Given the description of an element on the screen output the (x, y) to click on. 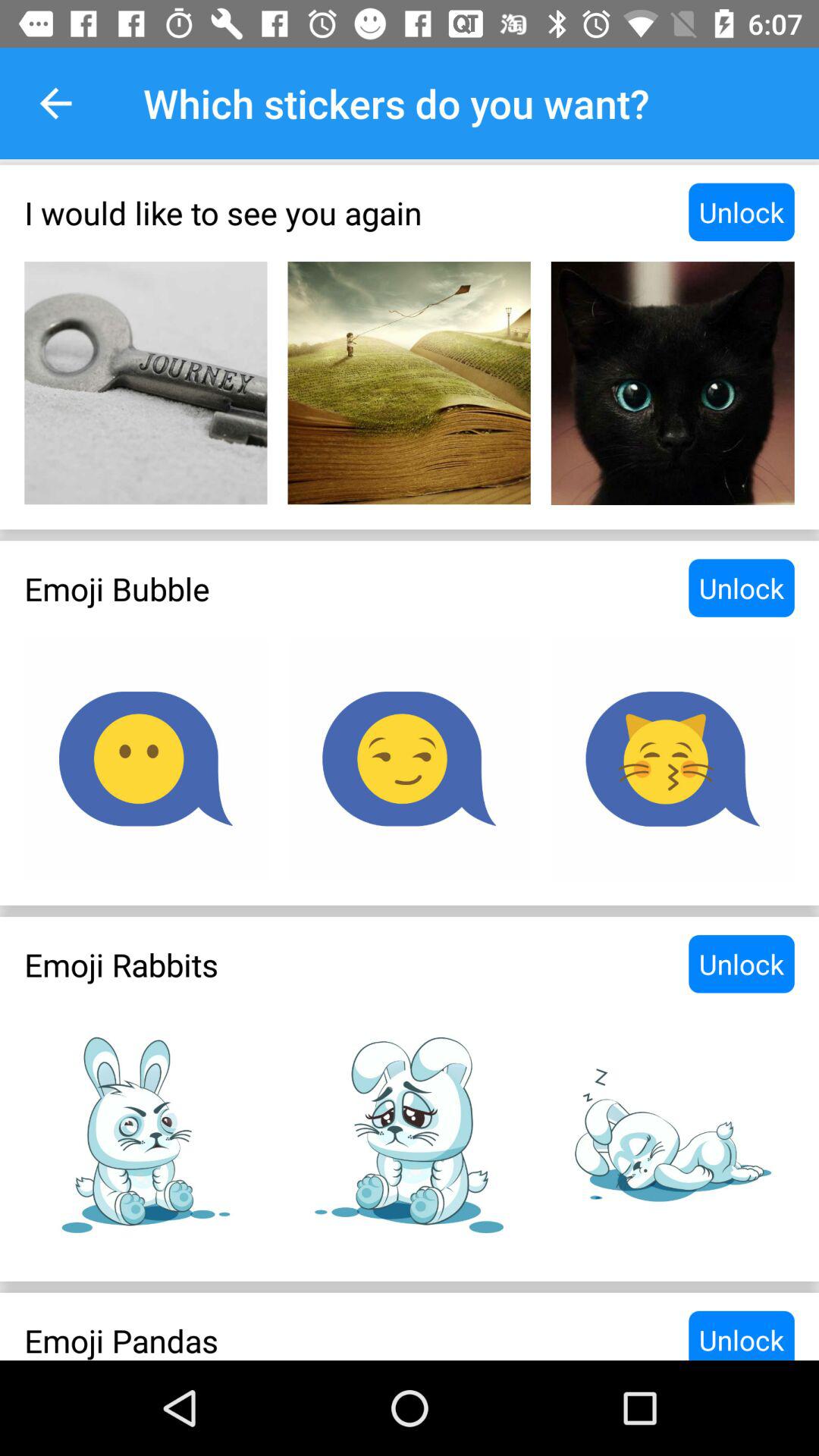
press item to the left of which stickers do (55, 103)
